Given the description of an element on the screen output the (x, y) to click on. 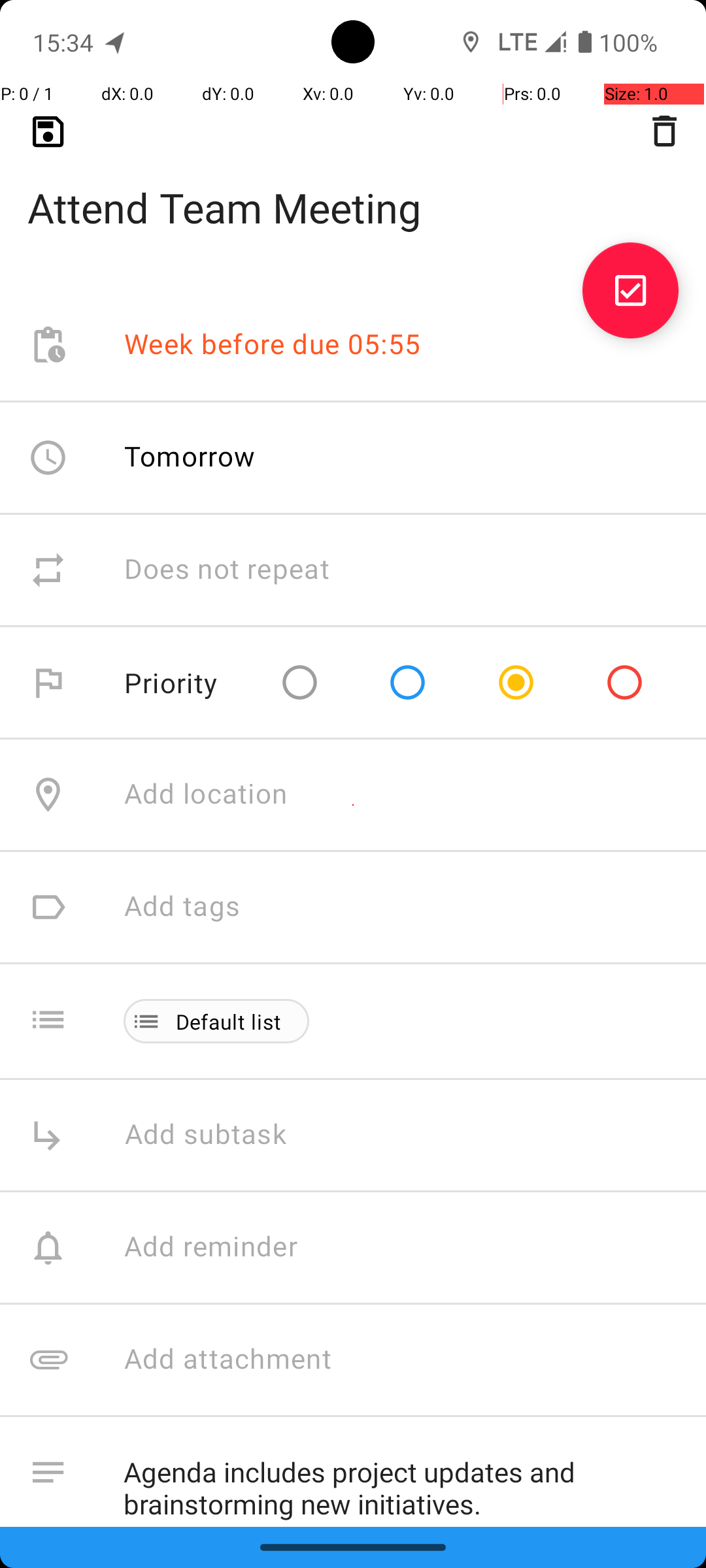
Agenda includes project updates and brainstorming new initiatives. Element type: android.widget.EditText (400, 1481)
Week before due 05:55 Element type: android.widget.TextView (272, 344)
